Given the description of an element on the screen output the (x, y) to click on. 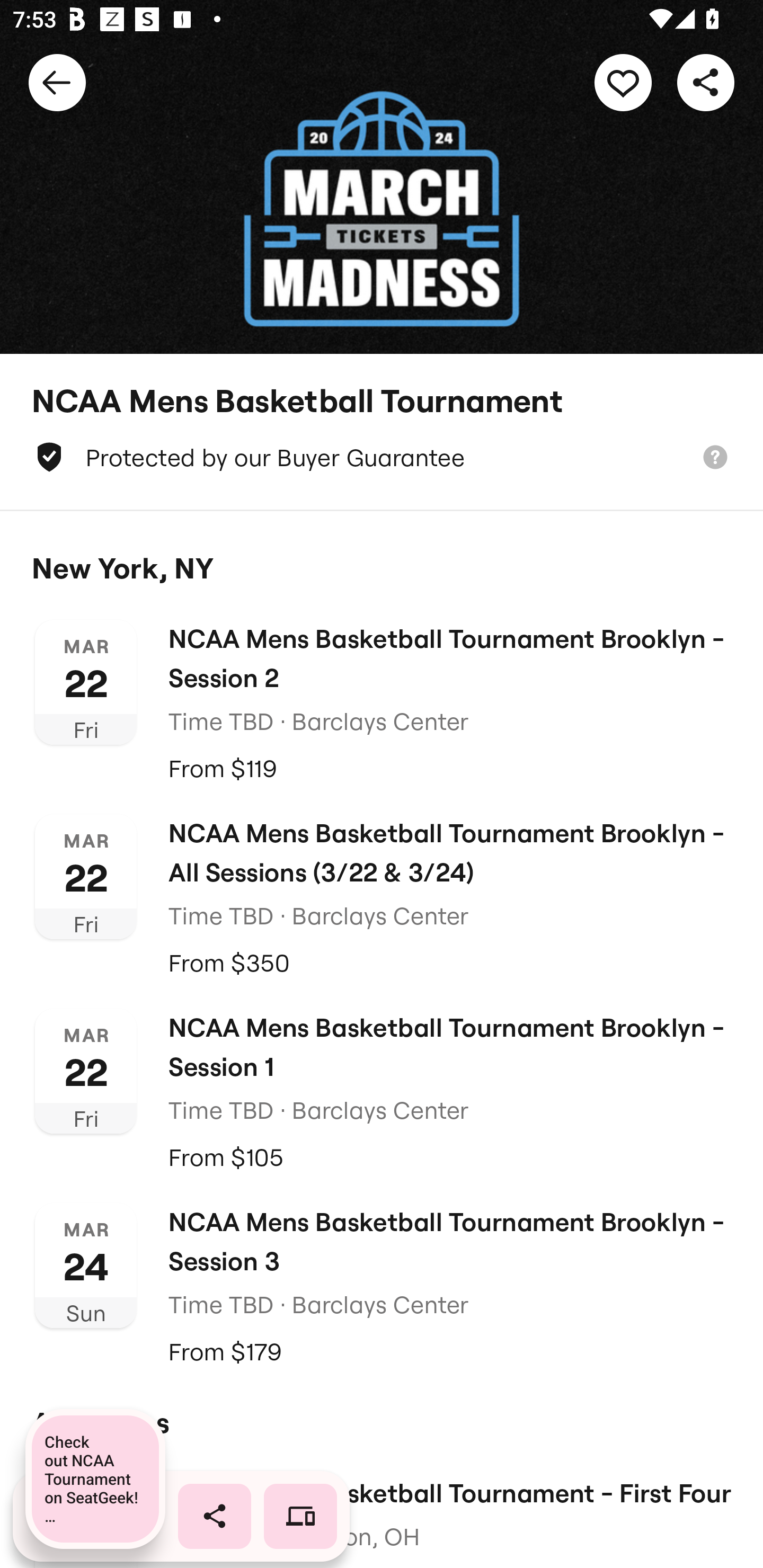
Back (57, 81)
Track this performer (623, 81)
Share this performer (705, 81)
Protected by our Buyer Guarantee Learn more (381, 456)
